Given the description of an element on the screen output the (x, y) to click on. 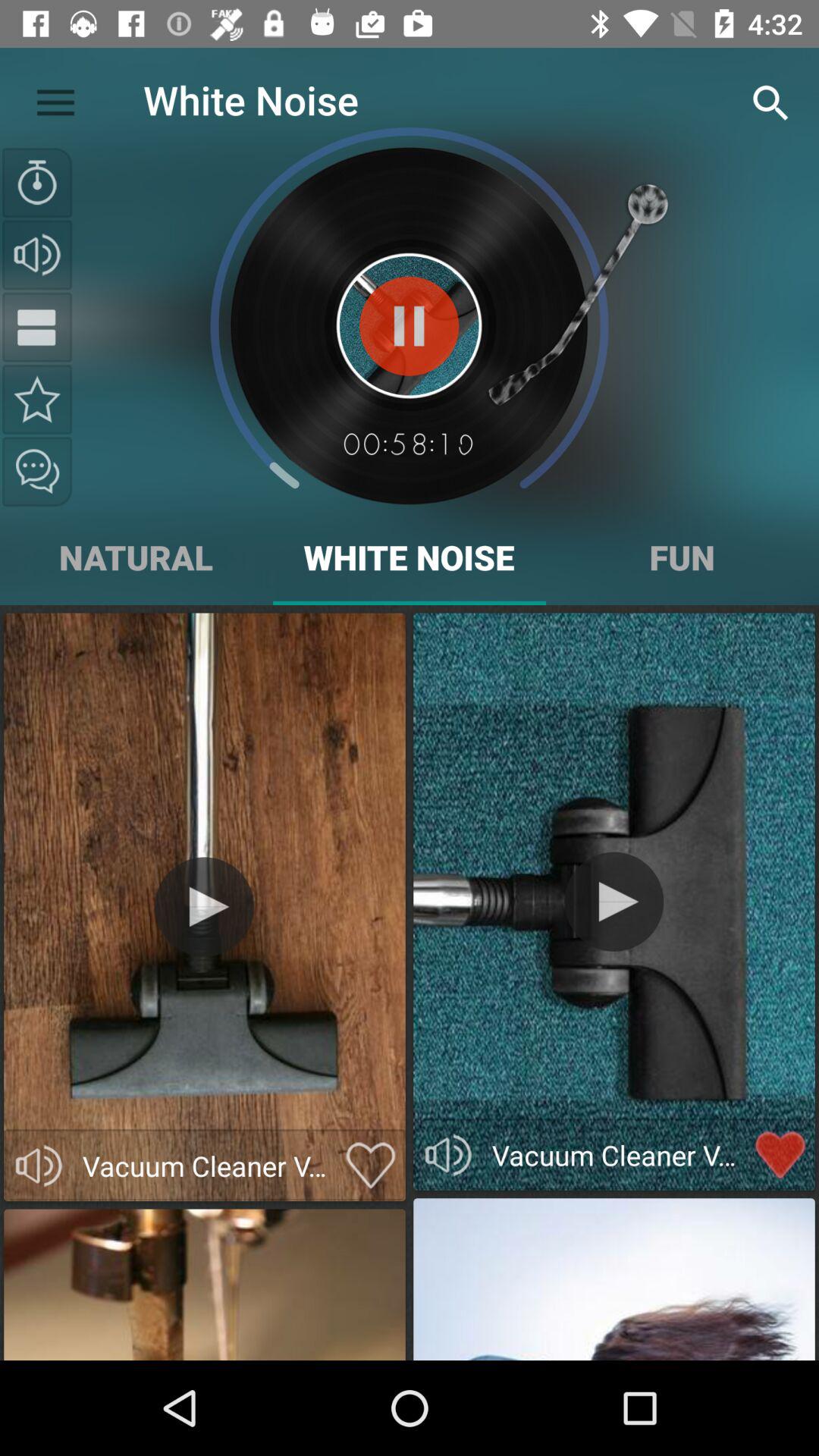
like this post (370, 1165)
